Given the description of an element on the screen output the (x, y) to click on. 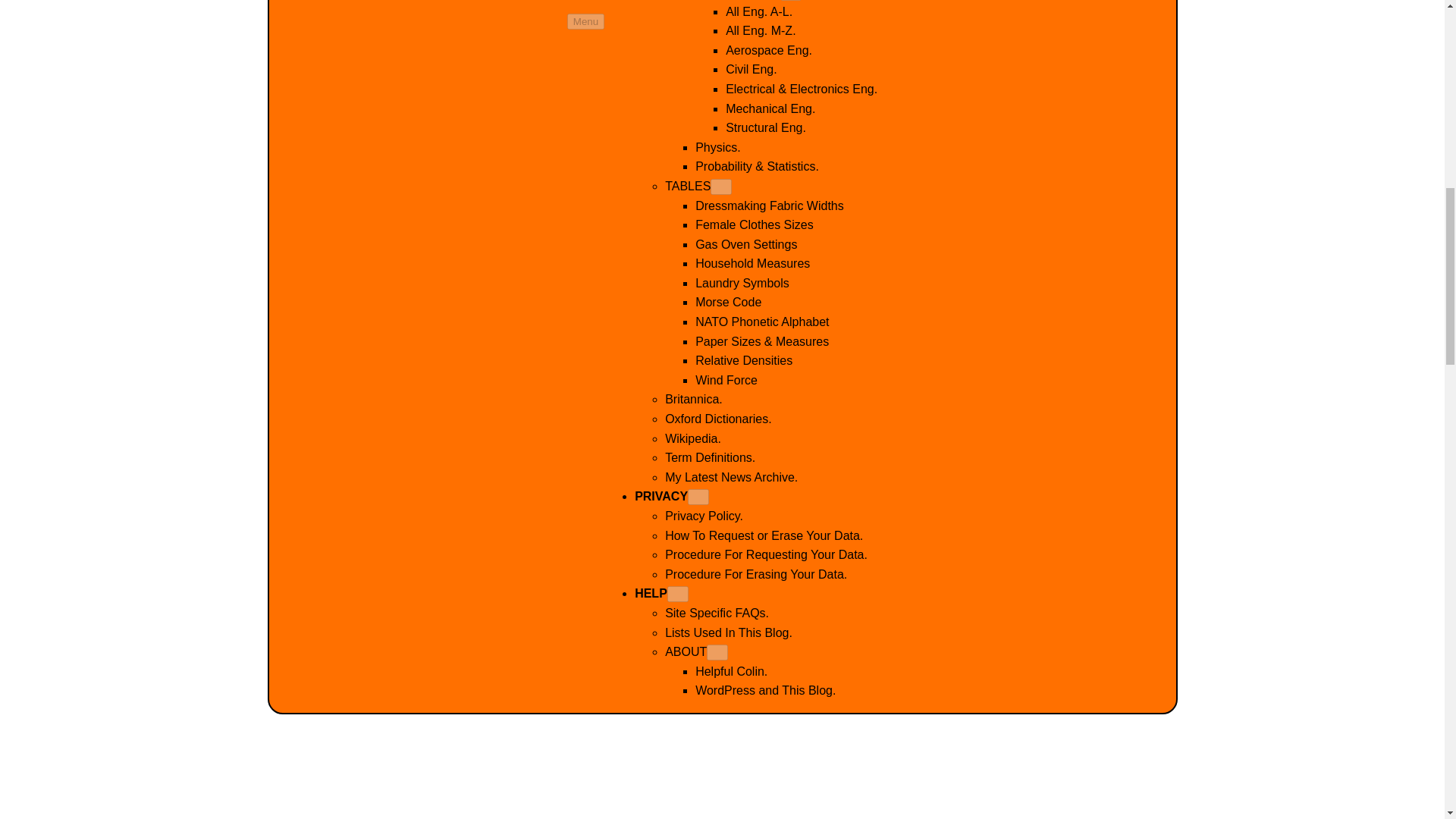
Menu (585, 21)
